Given the description of an element on the screen output the (x, y) to click on. 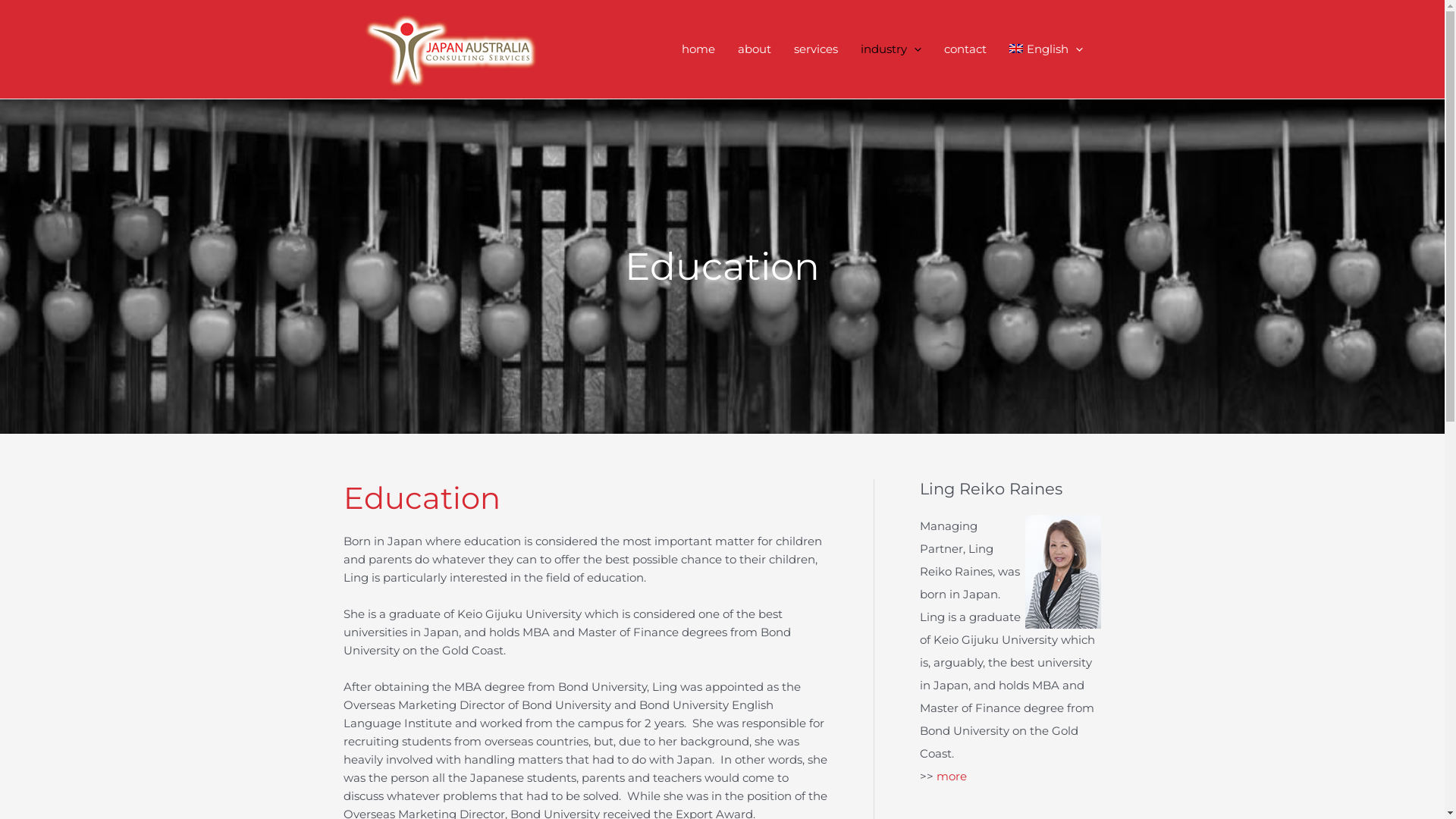
more Element type: text (950, 775)
English Element type: text (1045, 48)
contact Element type: text (964, 48)
about Element type: text (754, 48)
home Element type: text (698, 48)
industry Element type: text (890, 48)
services Element type: text (815, 48)
